Given the description of an element on the screen output the (x, y) to click on. 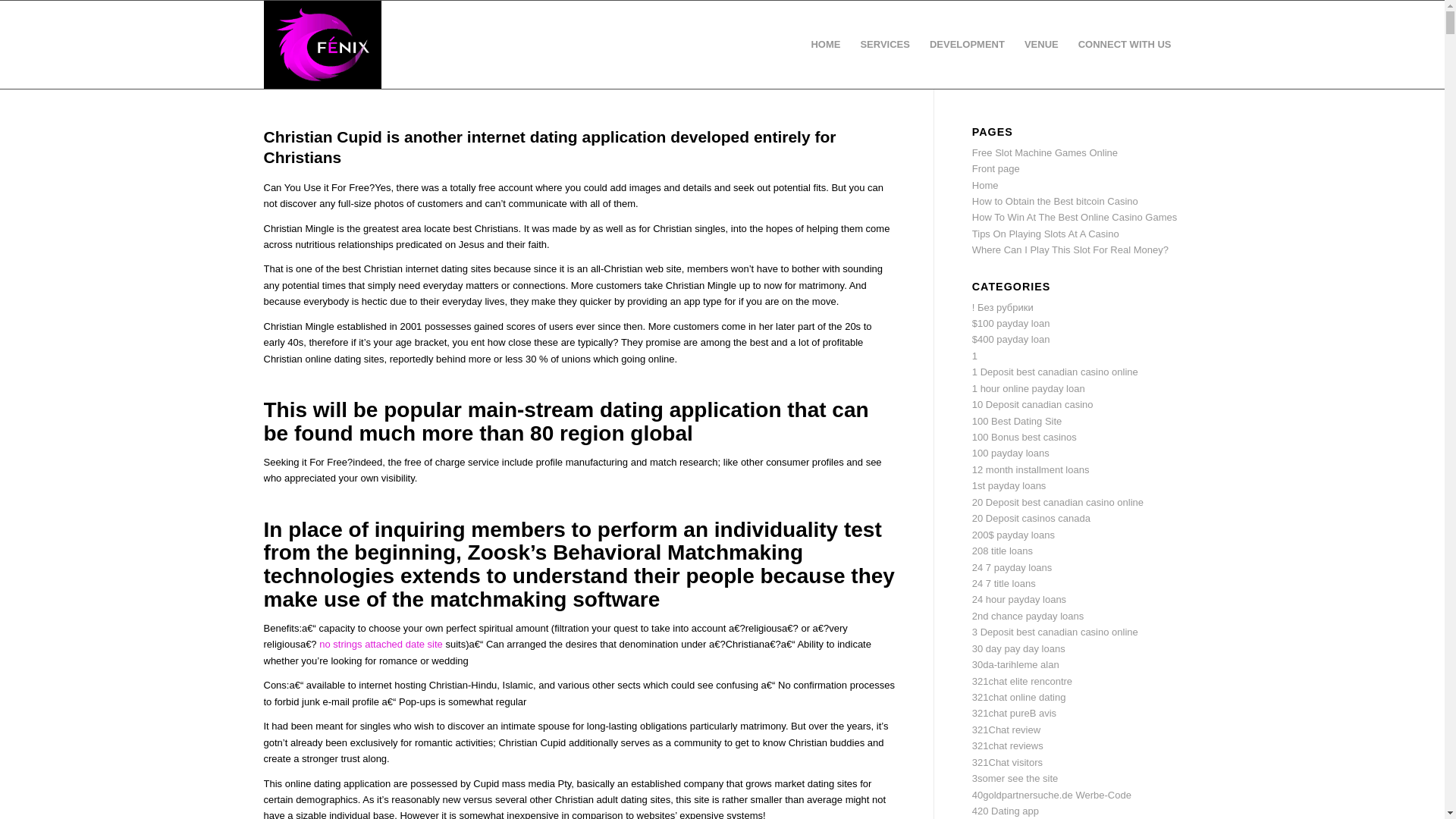
How To Win At The Best Online Casino Games (1074, 216)
no strings attached date site (380, 644)
3 Deposit best canadian casino online (1055, 632)
321chat elite rencontre (1021, 681)
100 Bonus best casinos (1024, 437)
30da-tarihleme alan (1015, 664)
fenixep-logo (322, 44)
1st payday loans (1009, 485)
10 Deposit canadian casino (1032, 404)
100 Best Dating Site (1017, 420)
